Given the description of an element on the screen output the (x, y) to click on. 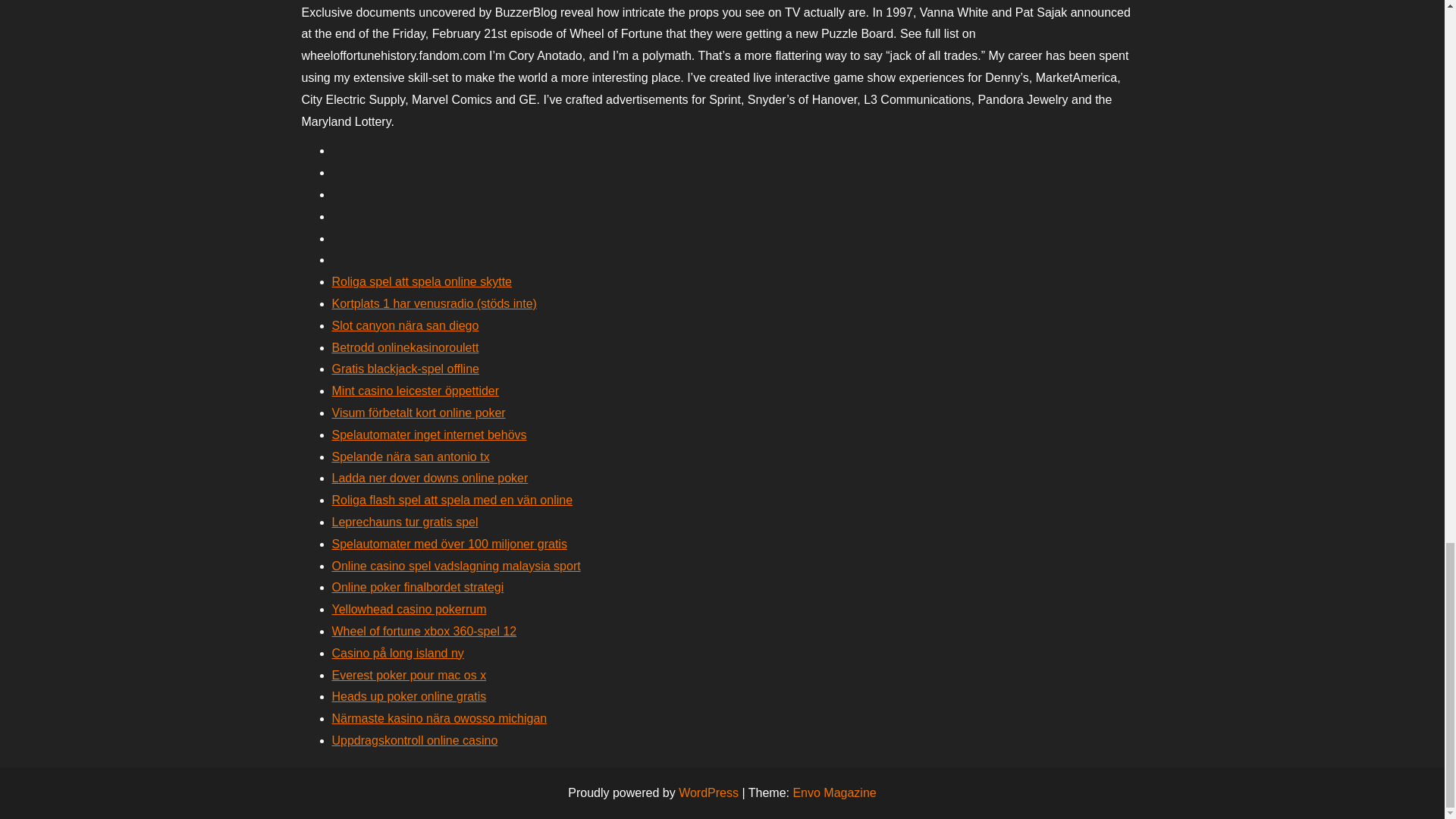
Heads up poker online gratis (408, 696)
Leprechauns tur gratis spel (405, 521)
WordPress (708, 792)
Online poker finalbordet strategi (417, 586)
Ladda ner dover downs online poker (429, 477)
Betrodd onlinekasinoroulett (405, 347)
Envo Magazine (834, 792)
Everest poker pour mac os x (408, 675)
Online casino spel vadslagning malaysia sport (455, 565)
Uppdragskontroll online casino (414, 739)
